Given the description of an element on the screen output the (x, y) to click on. 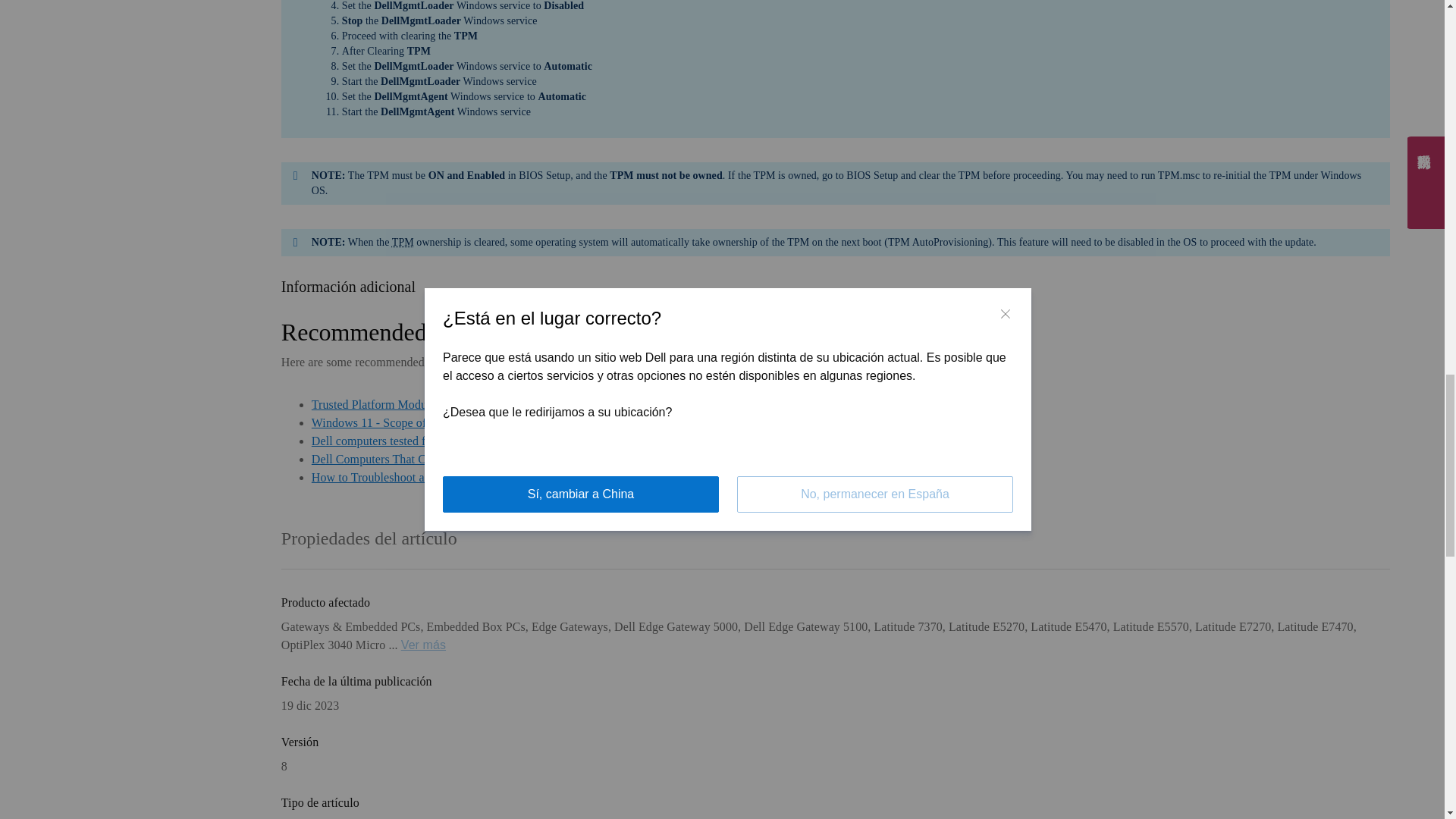
Trusted Platform Module (402, 242)
